Given the description of an element on the screen output the (x, y) to click on. 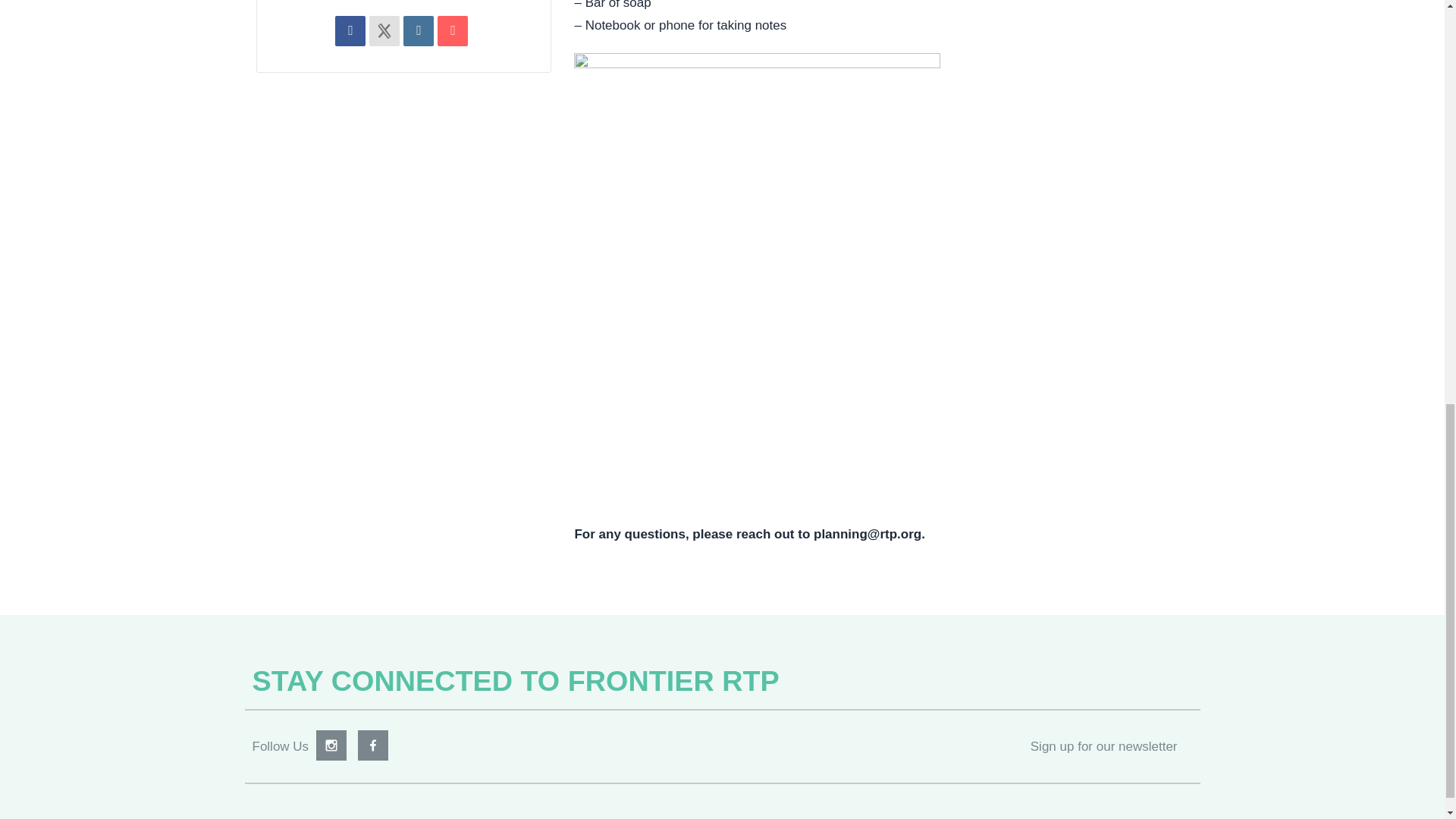
Share on Facebook (349, 37)
Linkedin (418, 37)
X Social Network (383, 37)
Instagram (330, 753)
Email (452, 37)
Facebook (373, 753)
